Given the description of an element on the screen output the (x, y) to click on. 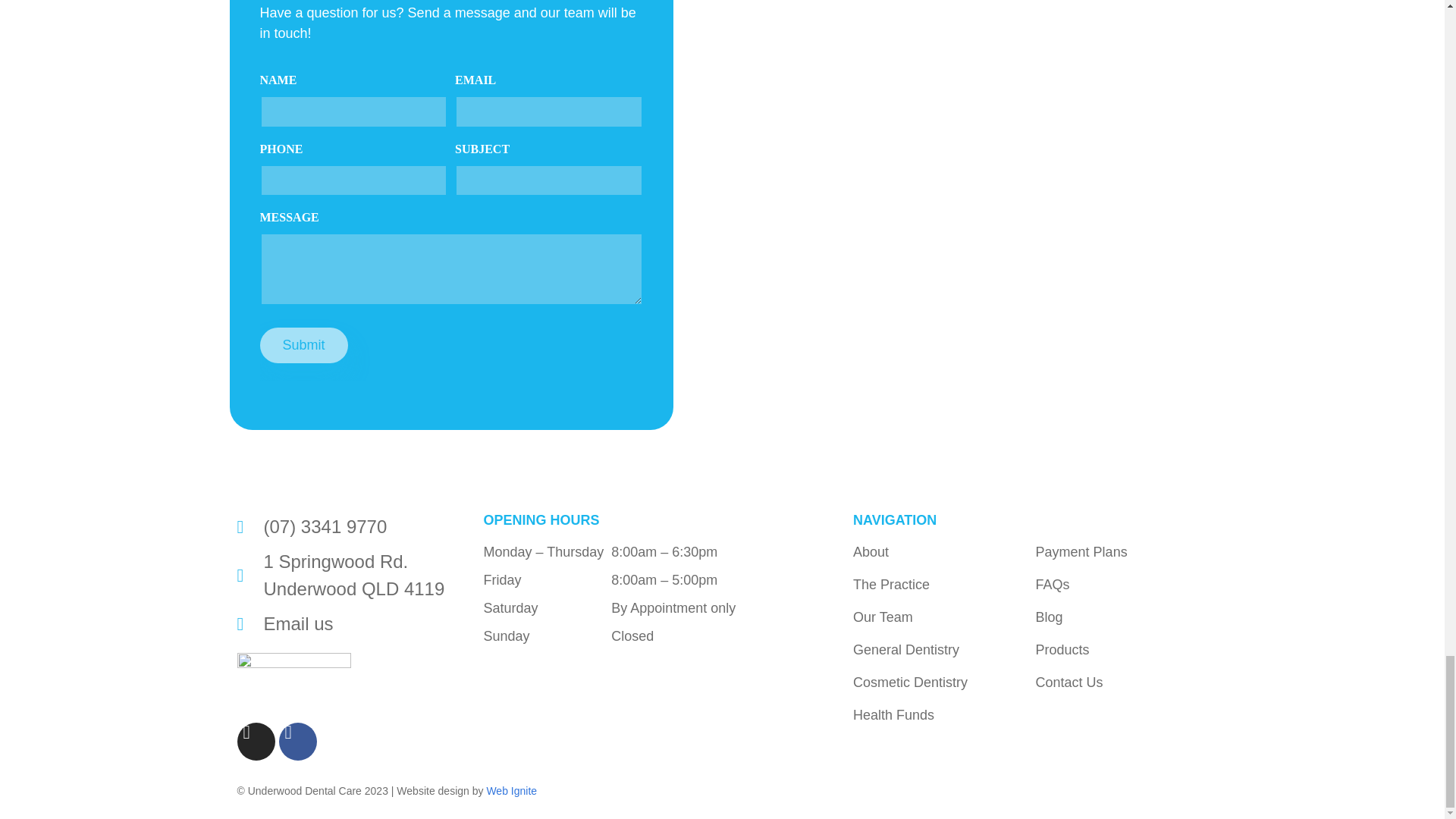
Submit (303, 345)
